Given the description of an element on the screen output the (x, y) to click on. 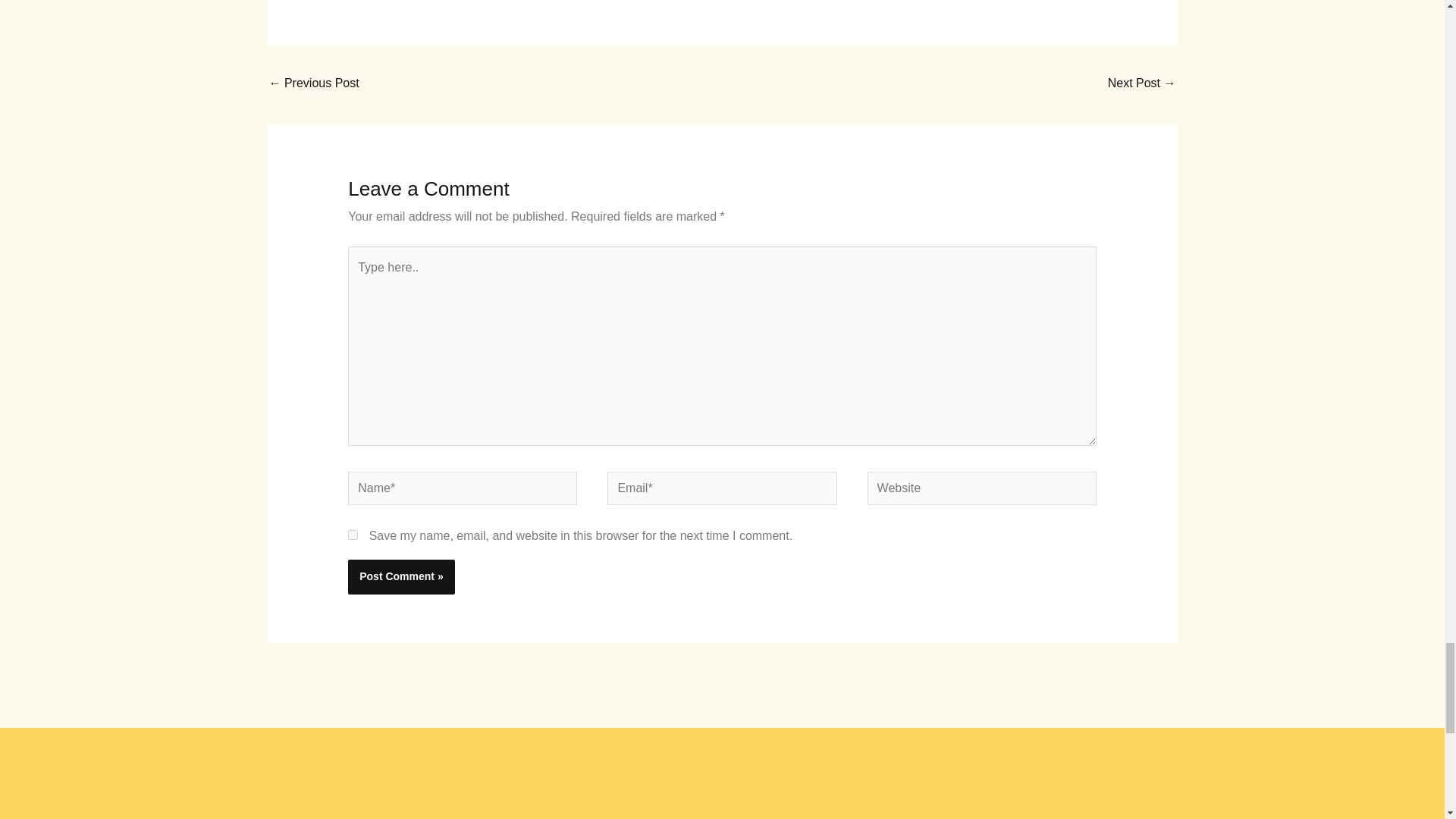
CAR SHARING MANAGEMENT SYSTEM (1142, 84)
ONLINE RECRUITMENT MANAGEMENT SYSTEM (312, 84)
yes (352, 534)
